Given the description of an element on the screen output the (x, y) to click on. 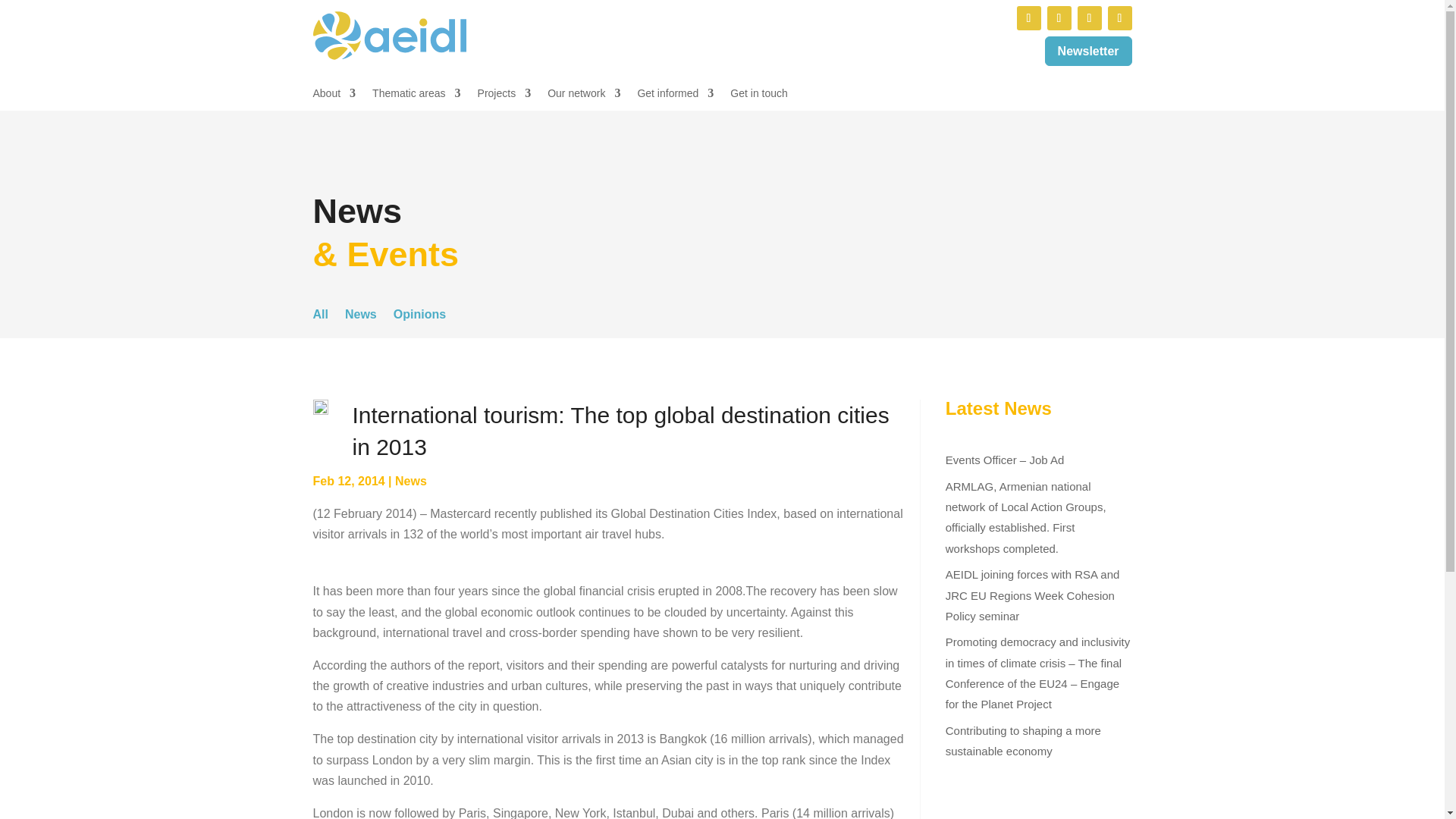
Get in touch (758, 95)
Newsletter (1088, 51)
News (410, 481)
About (334, 95)
Thematic areas (416, 95)
Follow on LinkedIn (1028, 17)
All (321, 317)
Follow on Flickr (1118, 17)
Our network (583, 95)
Follow on X (1058, 17)
Get informed (675, 95)
Opinions (419, 317)
Projects (504, 95)
News (361, 317)
Follow on Facebook (1088, 17)
